Given the description of an element on the screen output the (x, y) to click on. 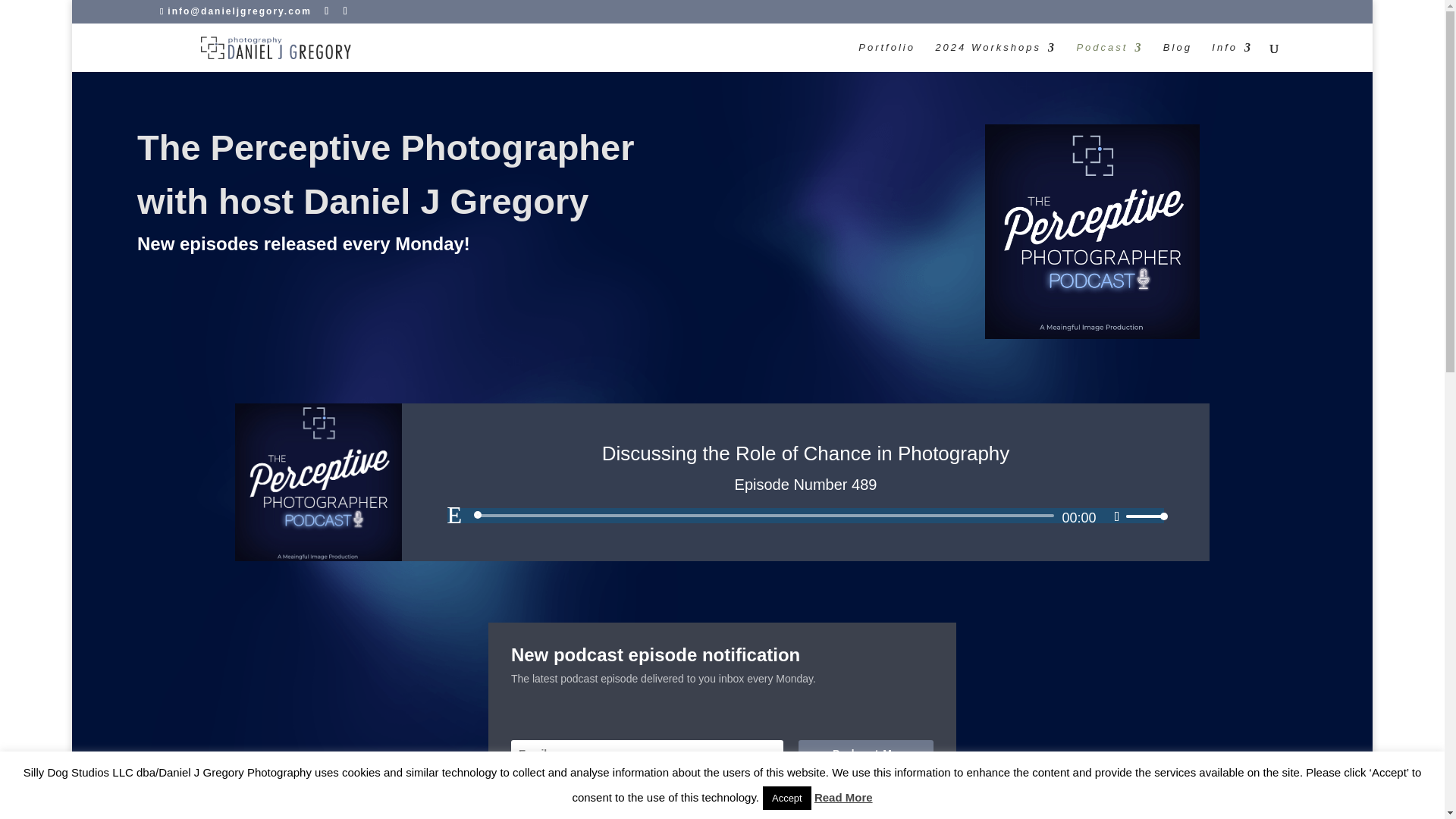
Portfolio (887, 57)
Info (1231, 57)
Blog (1177, 57)
Podcast (1108, 57)
perceptivephotographer23update (1092, 231)
2024 Workshops (995, 57)
